Given the description of an element on the screen output the (x, y) to click on. 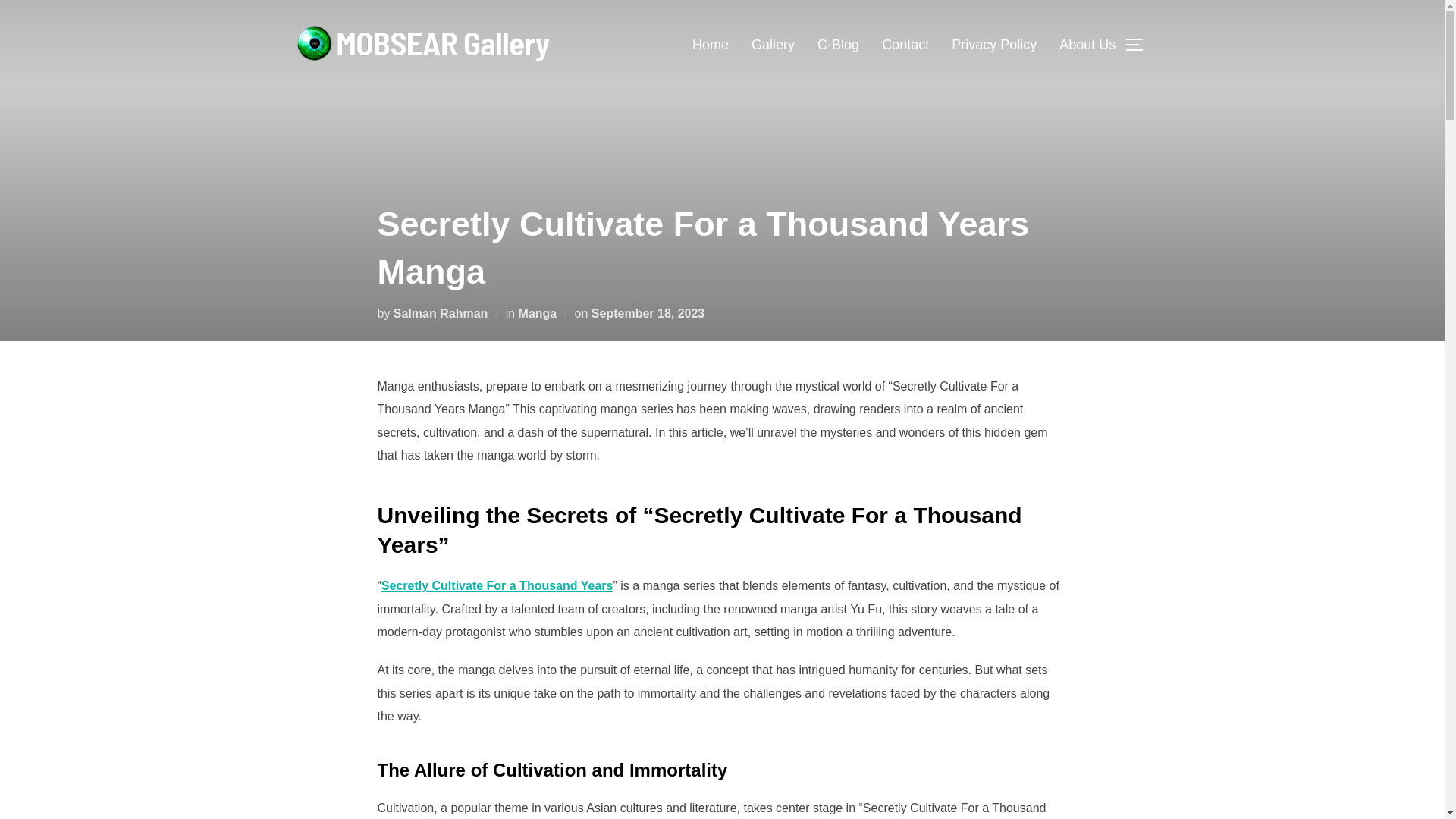
Contact (905, 44)
Salman Rahman (440, 312)
Secretly Cultivate For a Thousand Years (496, 585)
Home (711, 44)
Manga (537, 312)
Privacy Policy (994, 44)
C-Blog (837, 44)
About Us (1087, 44)
September 18, 2023 (647, 312)
Gallery (772, 44)
